Given the description of an element on the screen output the (x, y) to click on. 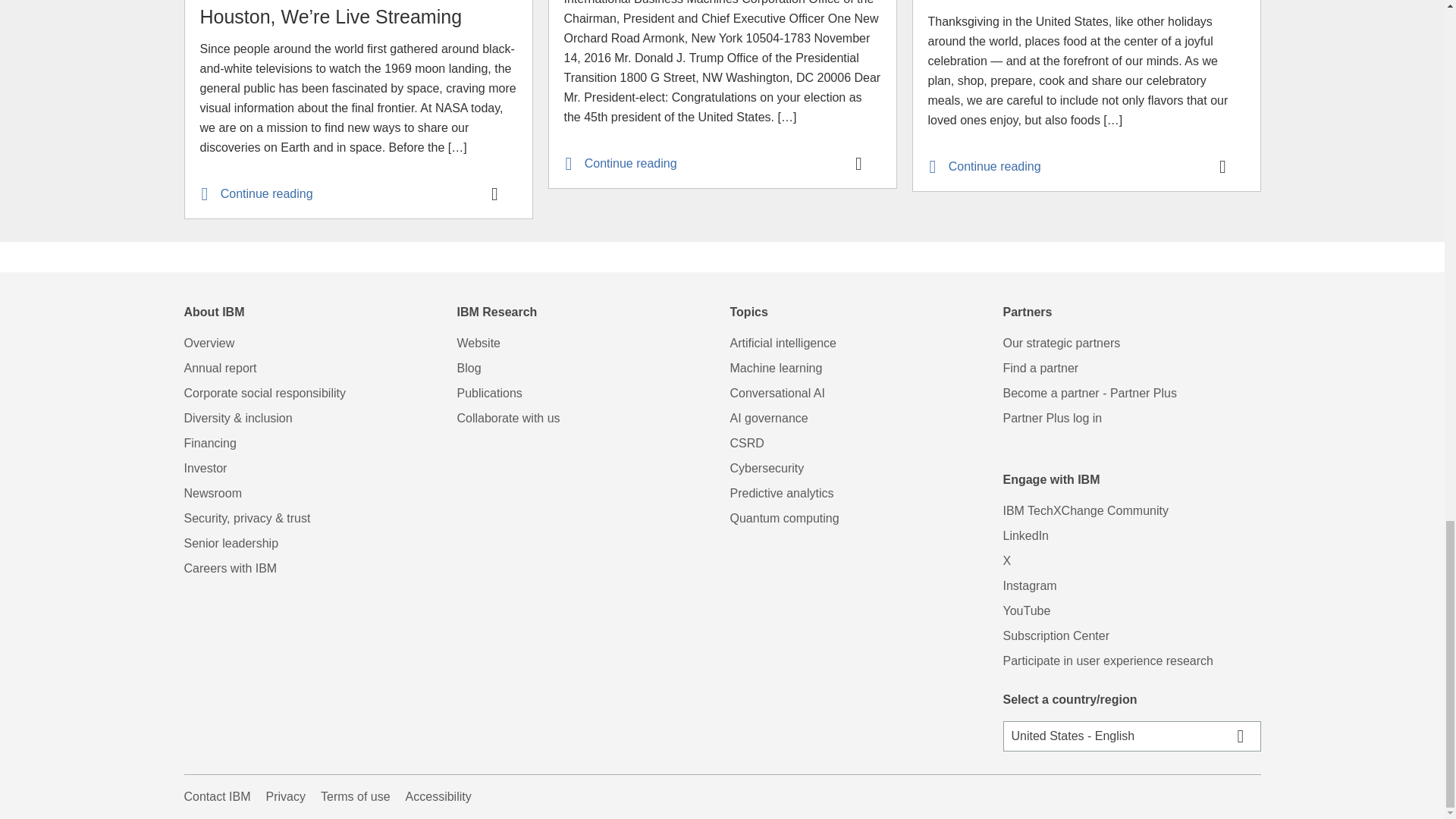
United States - English (1132, 736)
